Given the description of an element on the screen output the (x, y) to click on. 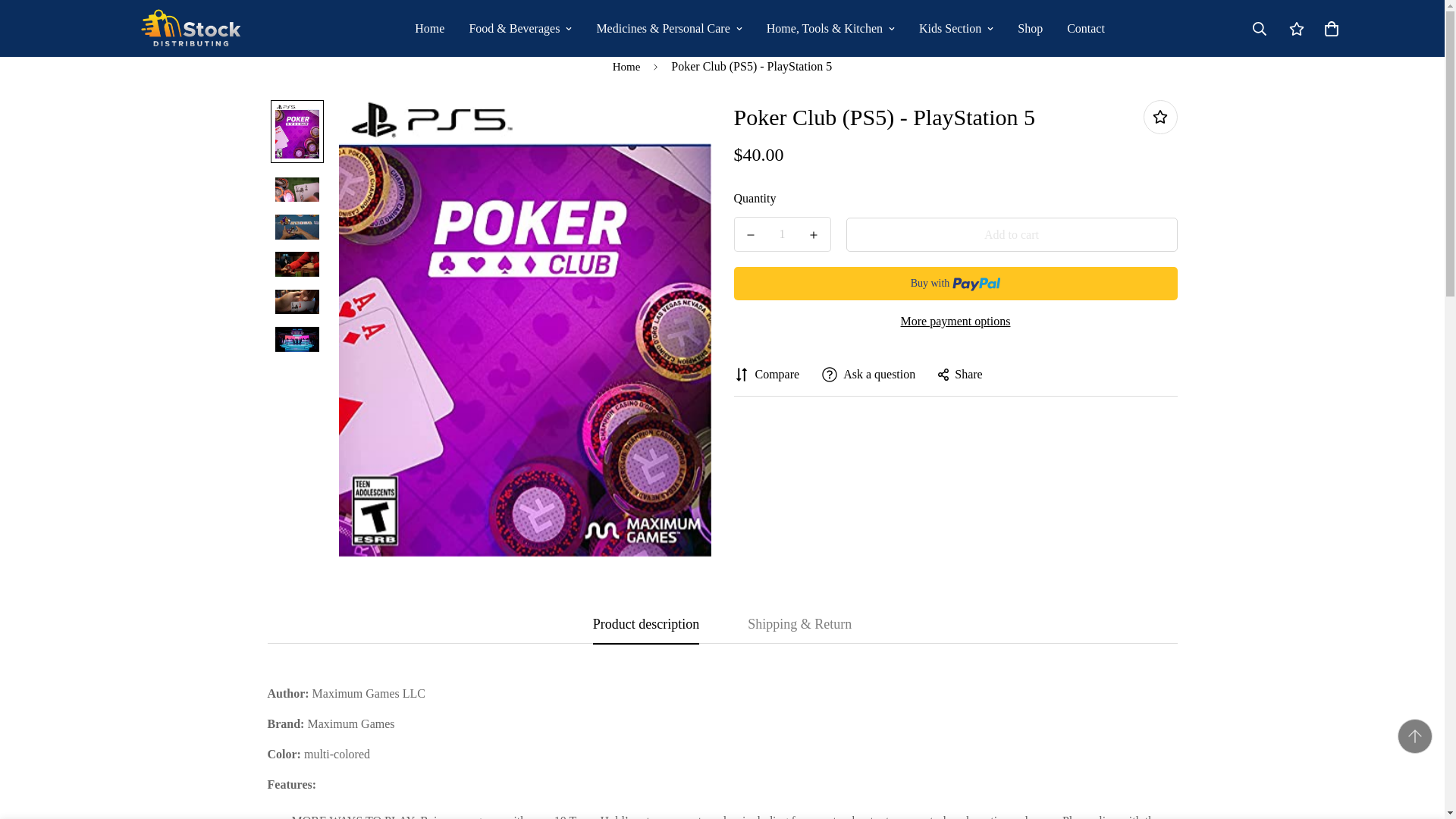
Shop (1030, 28)
Instock Distributing (191, 28)
Back to the home page (625, 66)
Home (430, 28)
Kids Section (956, 28)
1 (782, 233)
Contact (1085, 28)
